Given the description of an element on the screen output the (x, y) to click on. 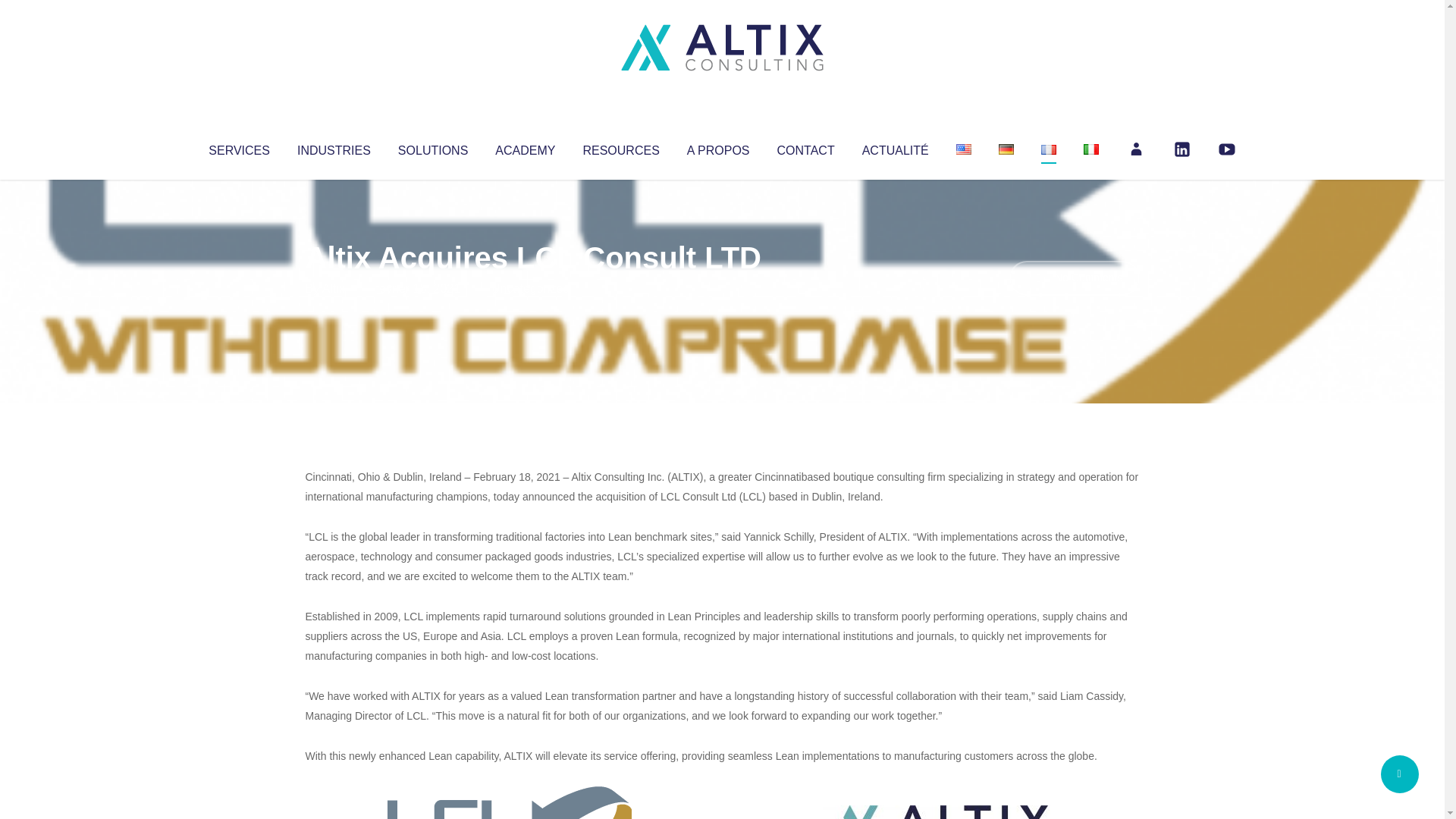
RESOURCES (620, 146)
No Comments (1073, 278)
SERVICES (238, 146)
Altix (333, 287)
Uncategorized (530, 287)
ACADEMY (524, 146)
A PROPOS (718, 146)
INDUSTRIES (334, 146)
SOLUTIONS (432, 146)
Articles par Altix (333, 287)
